Given the description of an element on the screen output the (x, y) to click on. 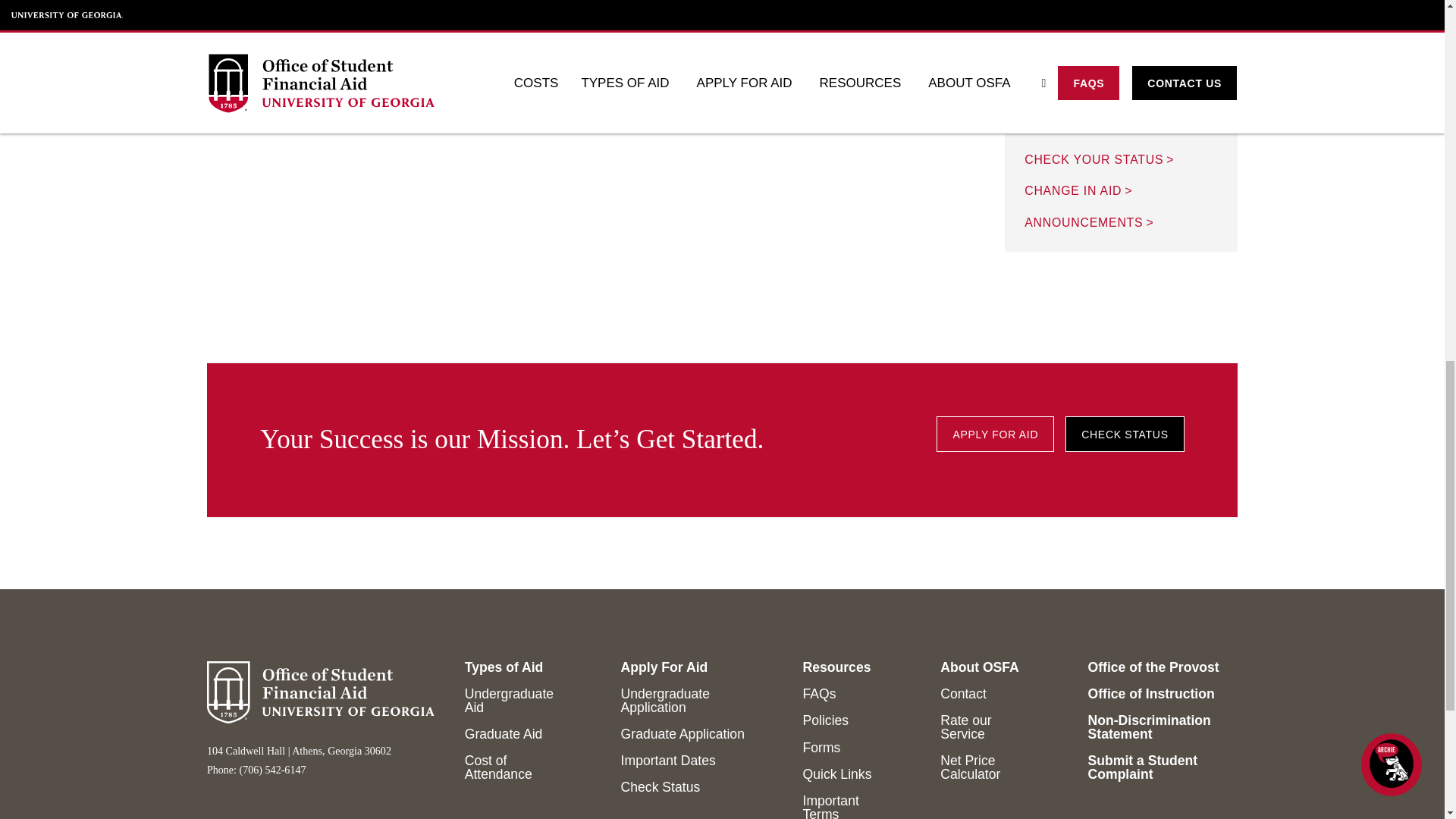
Check Status (1124, 434)
REACH Georgia Scholarship Program webpage (769, 9)
Apply For Aid (995, 434)
